Given the description of an element on the screen output the (x, y) to click on. 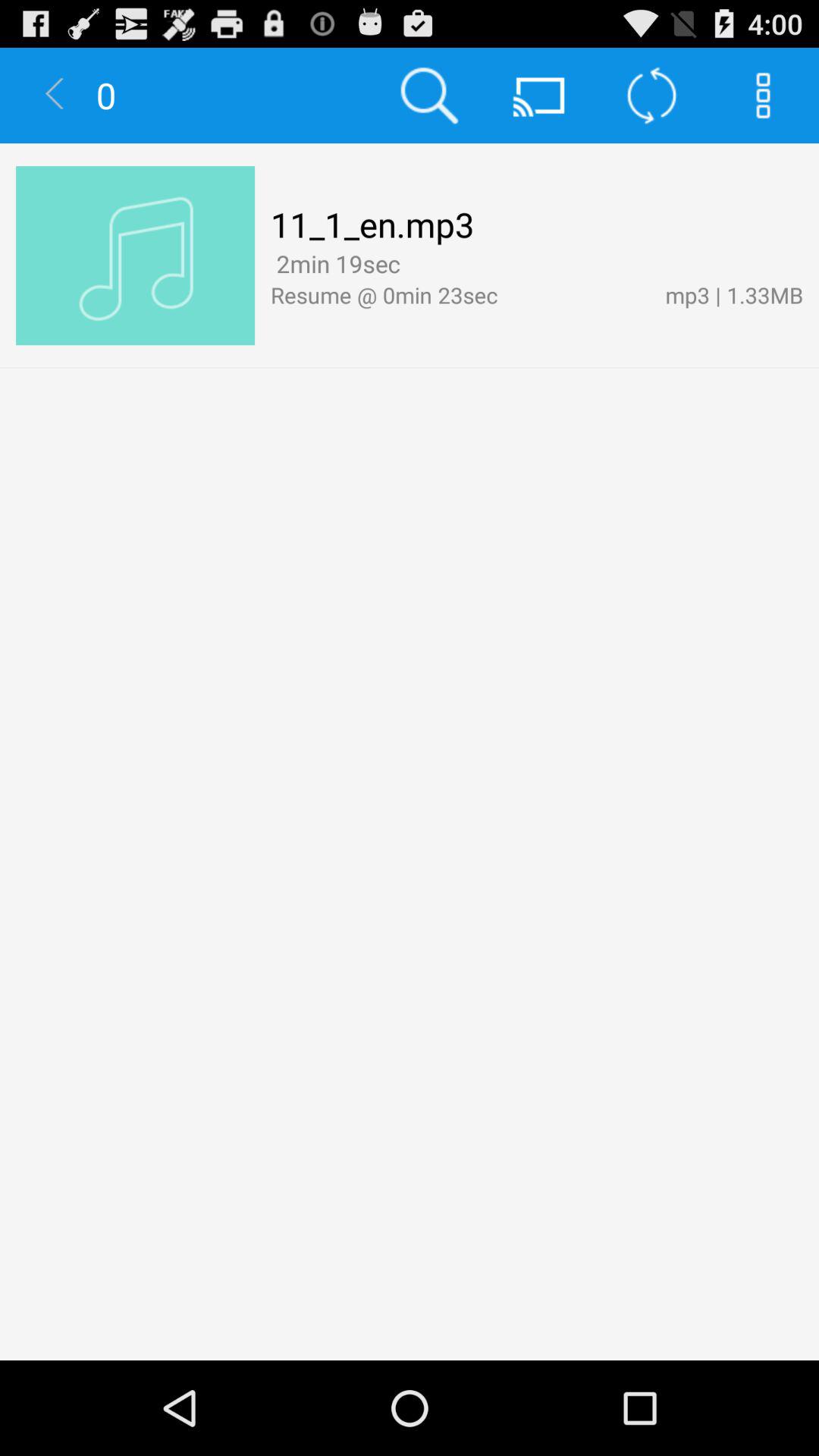
turn off the icon above the resume @ 0min 23sec icon (335, 263)
